Given the description of an element on the screen output the (x, y) to click on. 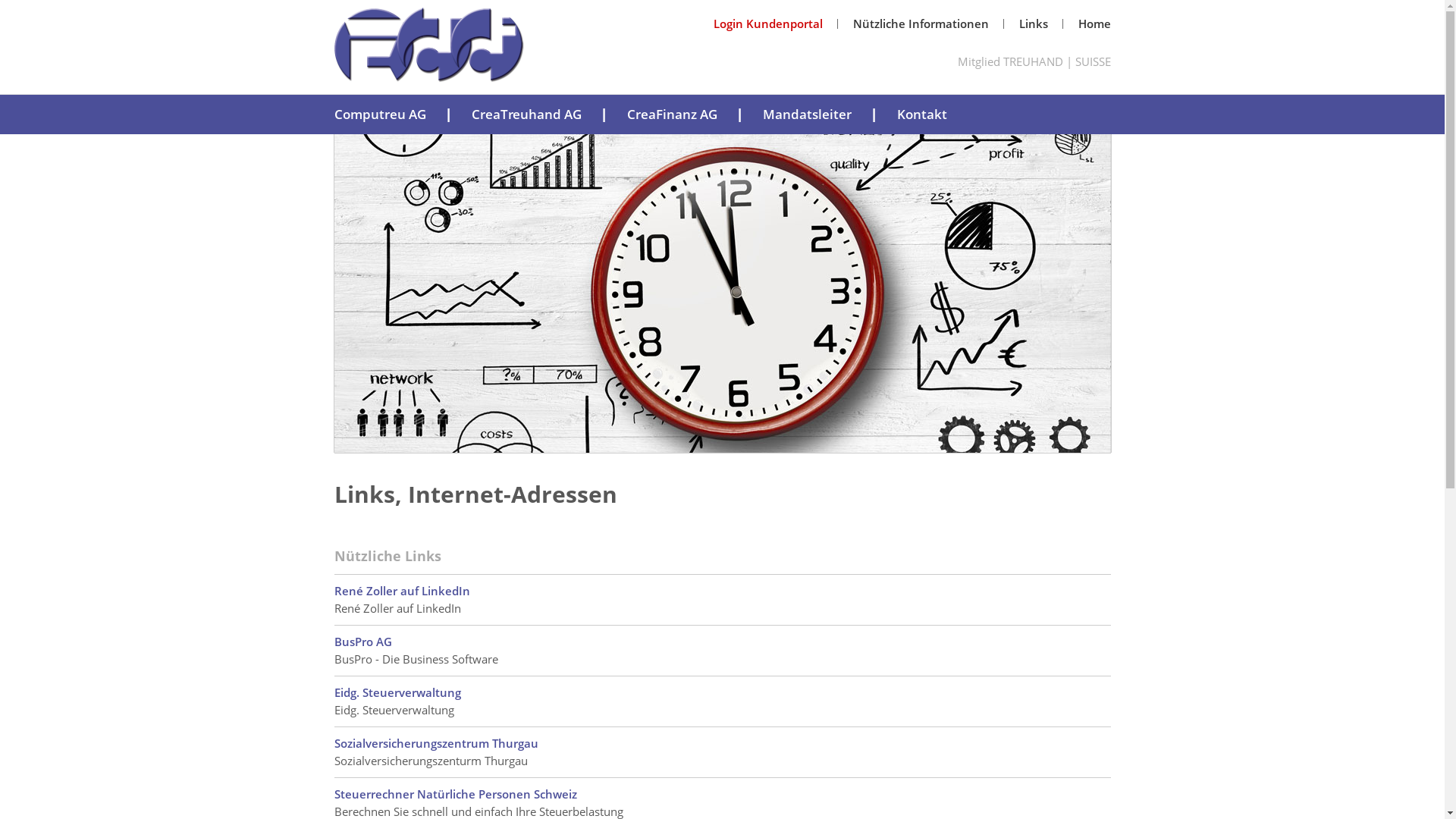
Links Element type: text (1033, 23)
CreaTreuhand AG Element type: text (526, 112)
BusPro AG Element type: text (362, 641)
Kontakt Element type: text (921, 112)
Eidg. Steuerverwaltung Element type: text (396, 691)
CreaFinanz AG Element type: text (671, 112)
Login Kundenportal Element type: text (767, 23)
Home Element type: text (1094, 23)
Mandatsleiter Element type: text (806, 112)
Computreu AG Element type: text (379, 112)
Sozialversicherungszentrum Thurgau Element type: text (435, 742)
